Given the description of an element on the screen output the (x, y) to click on. 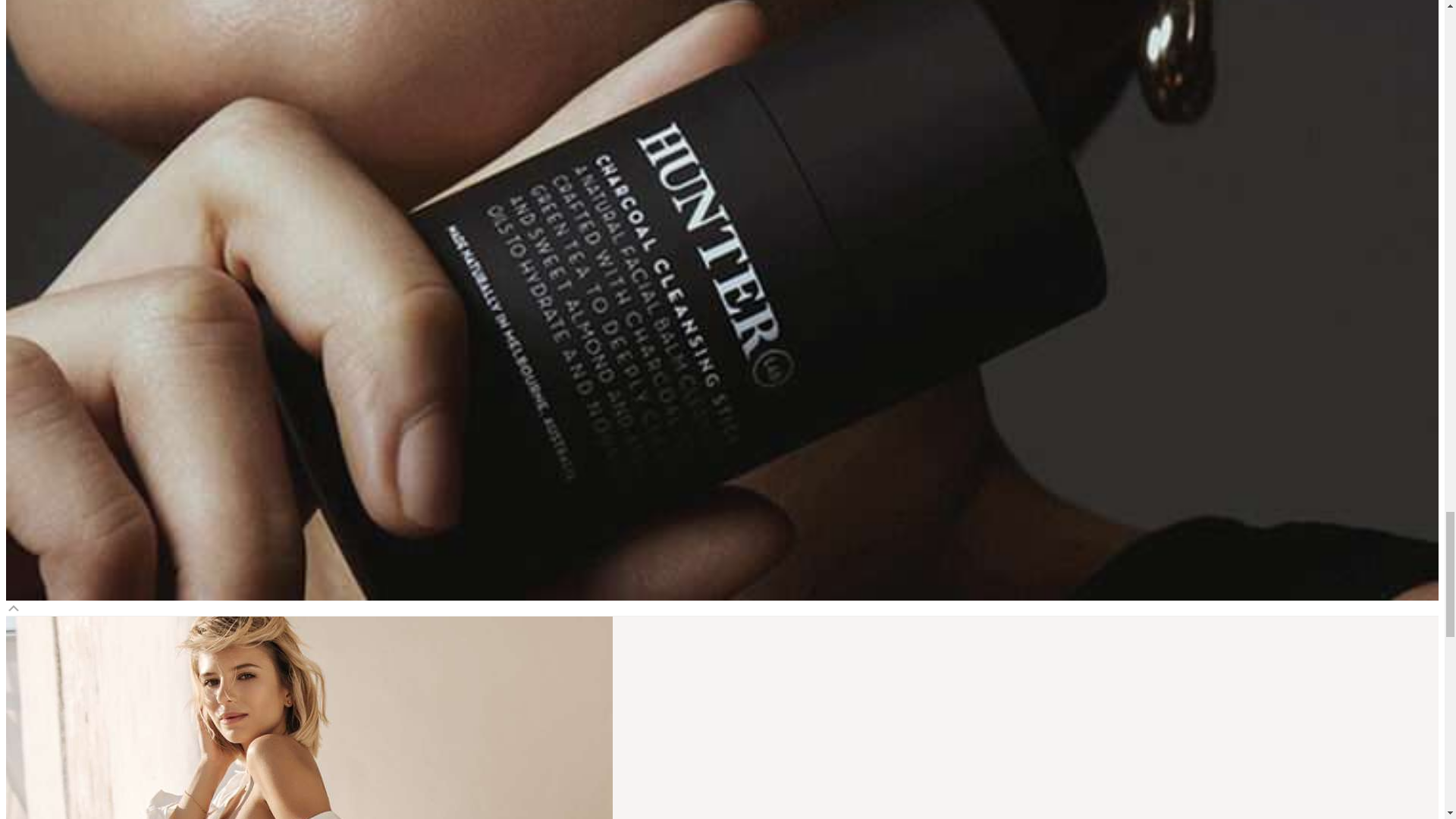
Back To Top (13, 606)
